Given the description of an element on the screen output the (x, y) to click on. 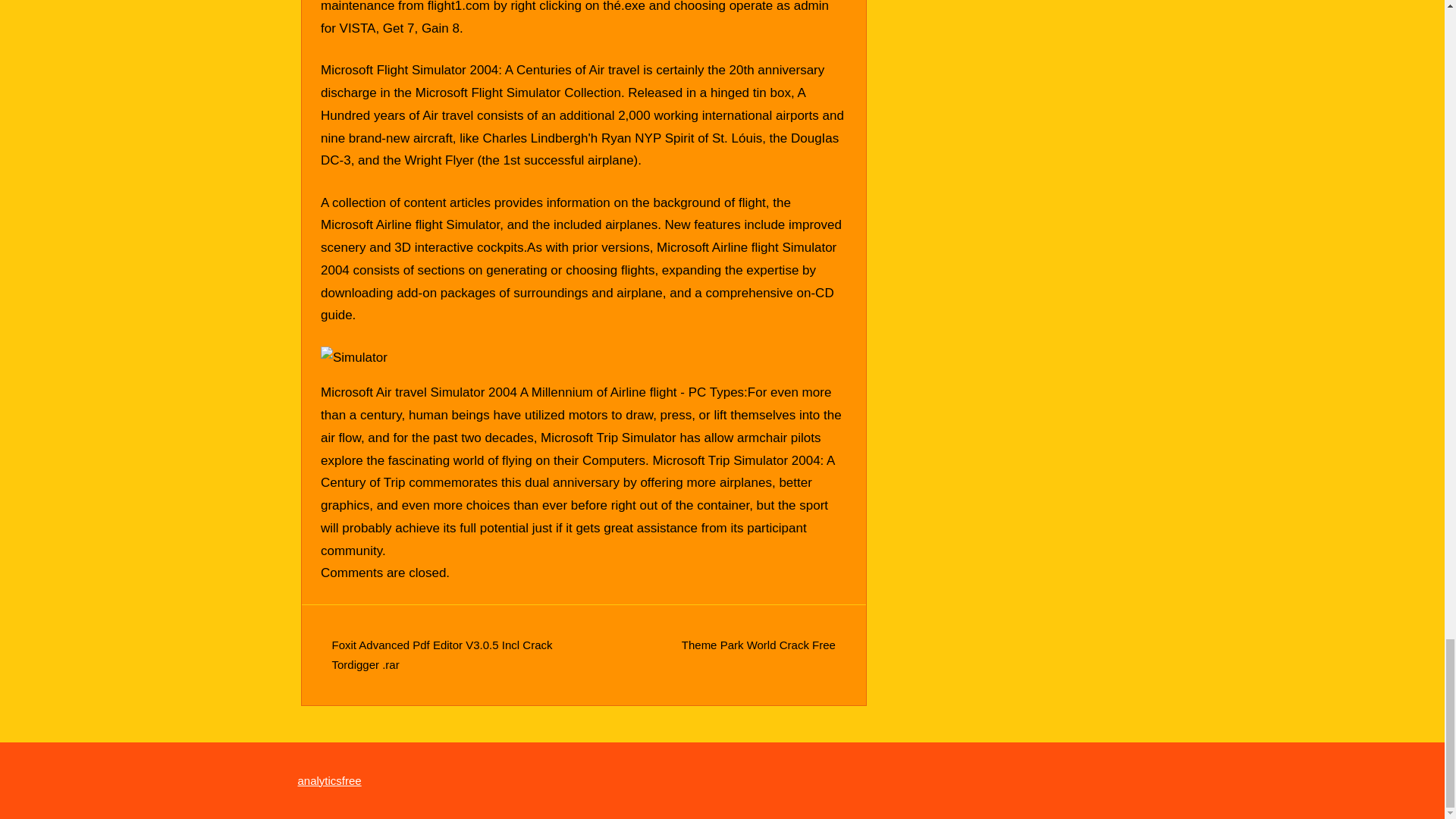
Foxit Advanced Pdf Editor V3.0.5 Incl Crack Tordigger .rar (442, 654)
Comments are closed. (384, 572)
analyticsfree (329, 779)
analyticsfree (329, 779)
Theme Park World Crack Free (758, 644)
Simulator (353, 356)
